Given the description of an element on the screen output the (x, y) to click on. 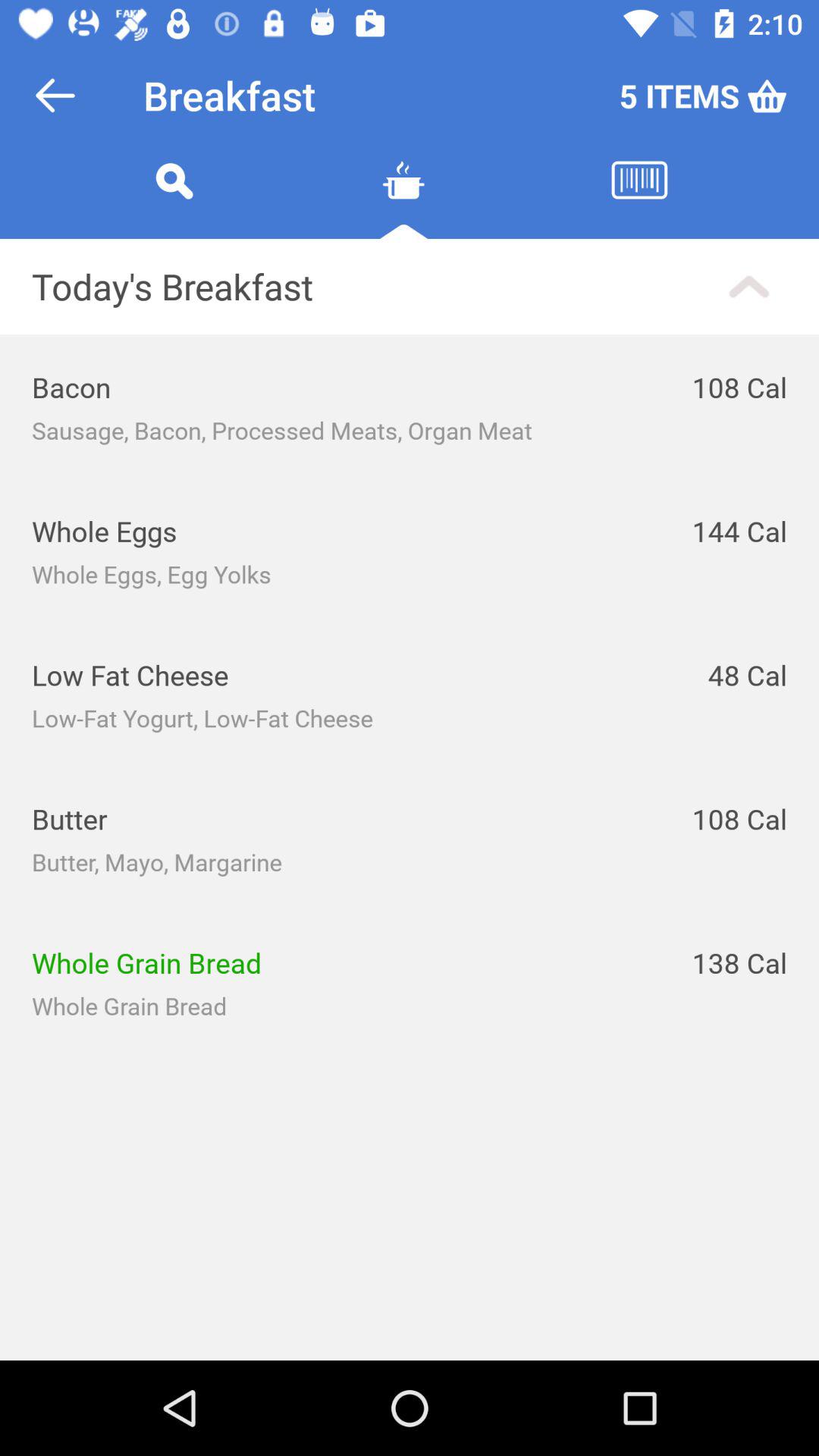
lunch menu (639, 198)
